Given the description of an element on the screen output the (x, y) to click on. 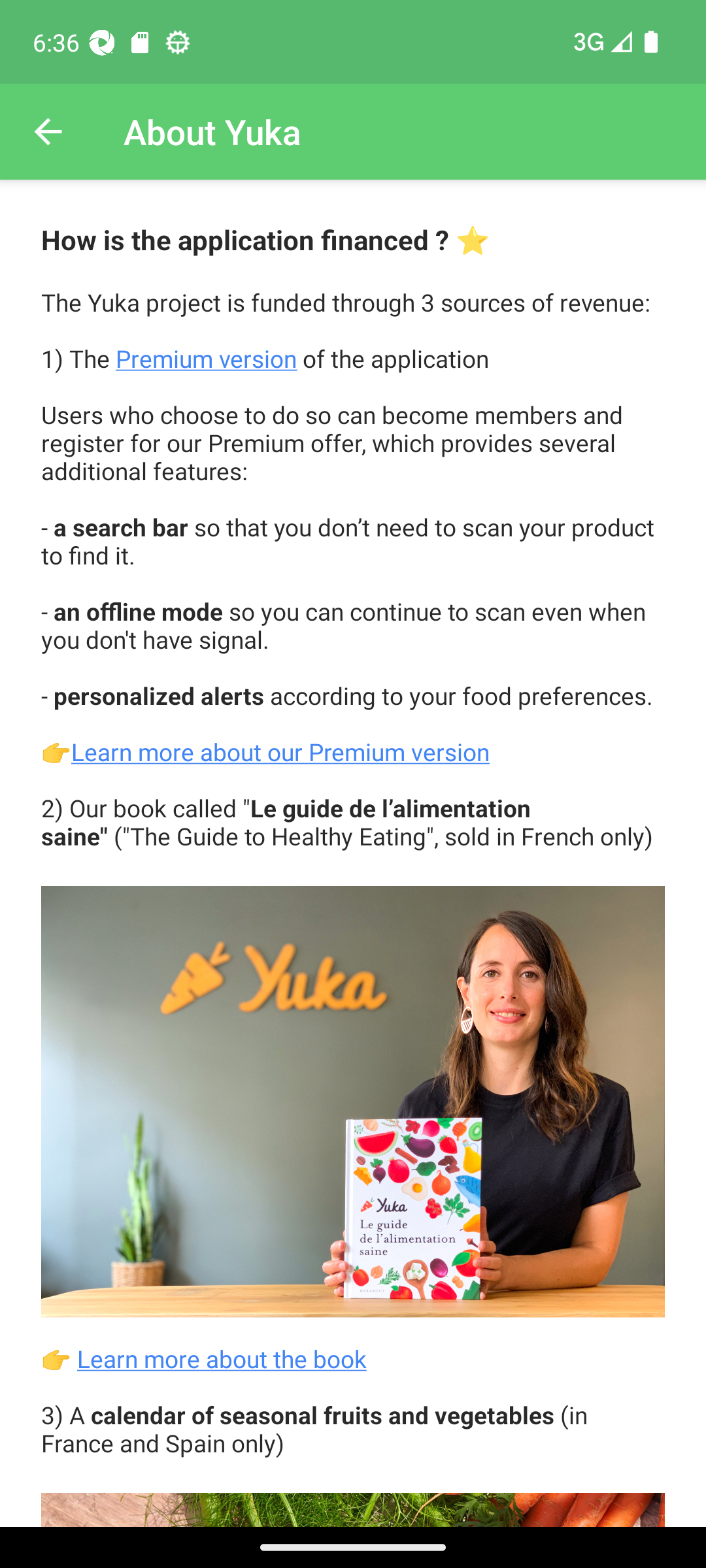
Navigate up (48, 131)
